Given the description of an element on the screen output the (x, y) to click on. 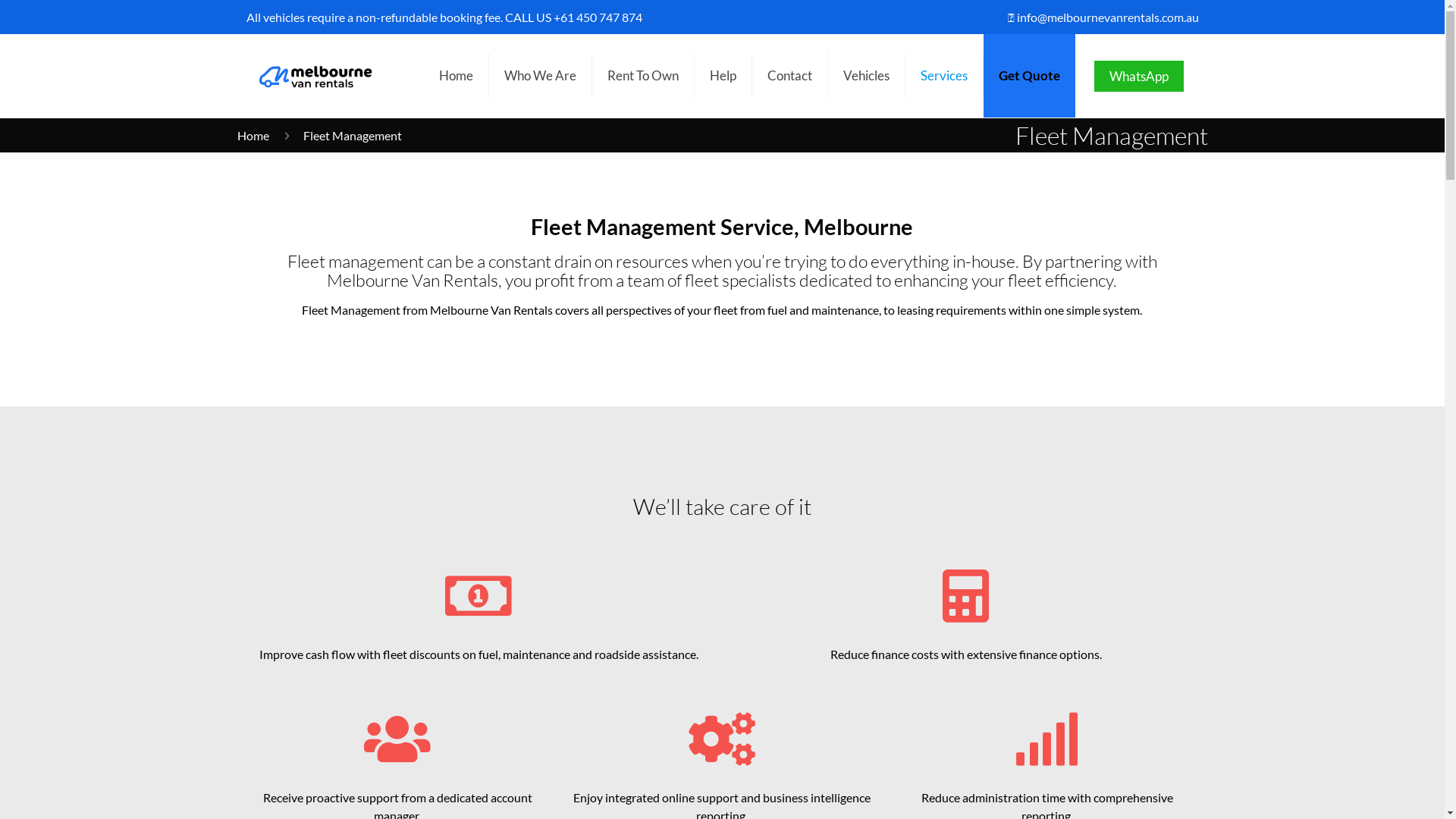
Who We Are Element type: text (539, 75)
WhatsApp Element type: text (1138, 75)
Melbourne Van Rentals Element type: hover (312, 75)
Get Quote Element type: text (1028, 75)
Vehicles Element type: text (866, 75)
Home Element type: text (455, 75)
+61 450 747 874 Element type: text (597, 16)
Contact Element type: text (790, 75)
Services Element type: text (944, 75)
Help Element type: text (723, 75)
Home Element type: text (252, 135)
Rent To Own Element type: text (642, 75)
